Given the description of an element on the screen output the (x, y) to click on. 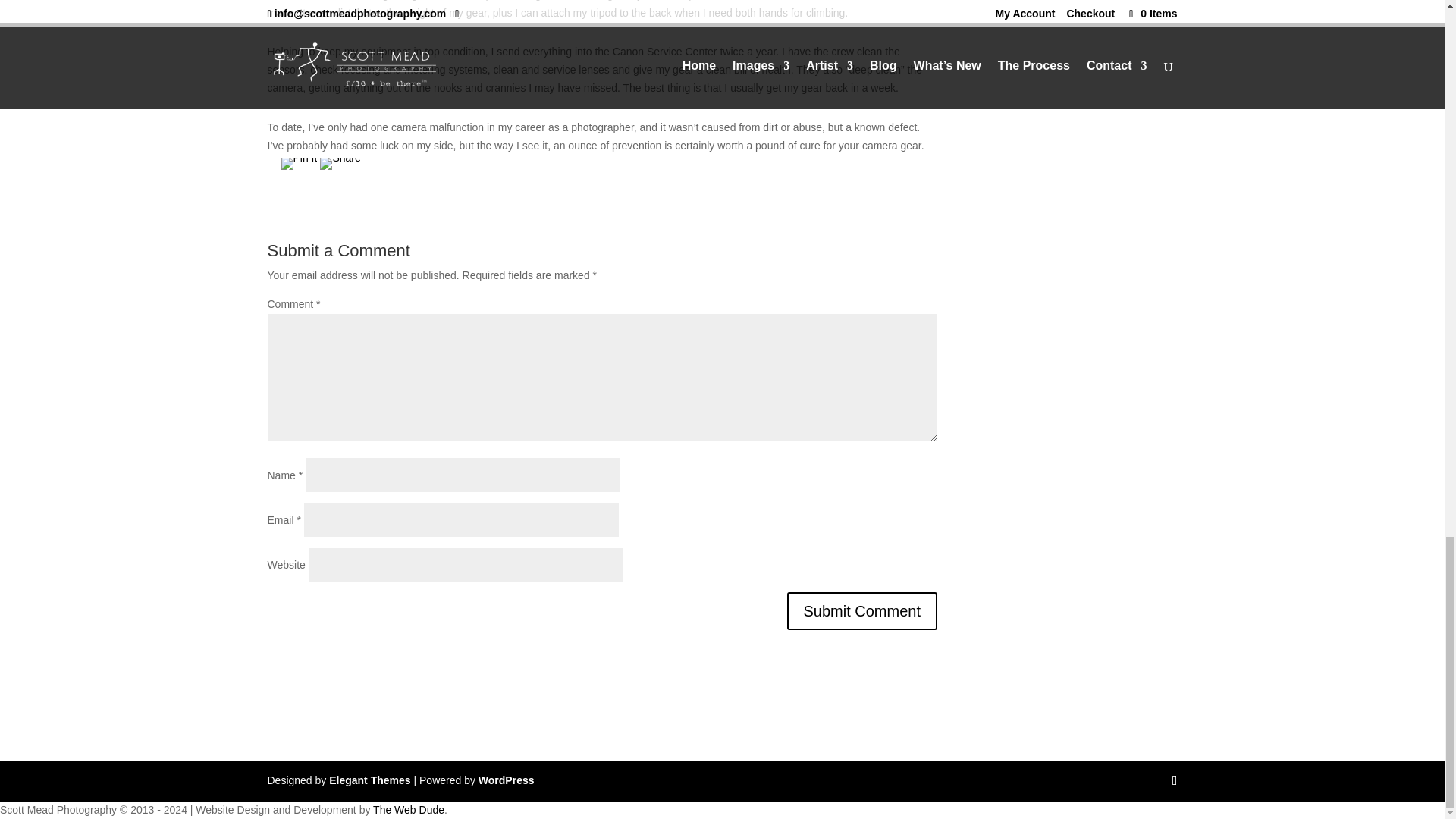
Pin It (299, 163)
Premium WordPress Themes (369, 779)
Submit Comment (862, 610)
